Given the description of an element on the screen output the (x, y) to click on. 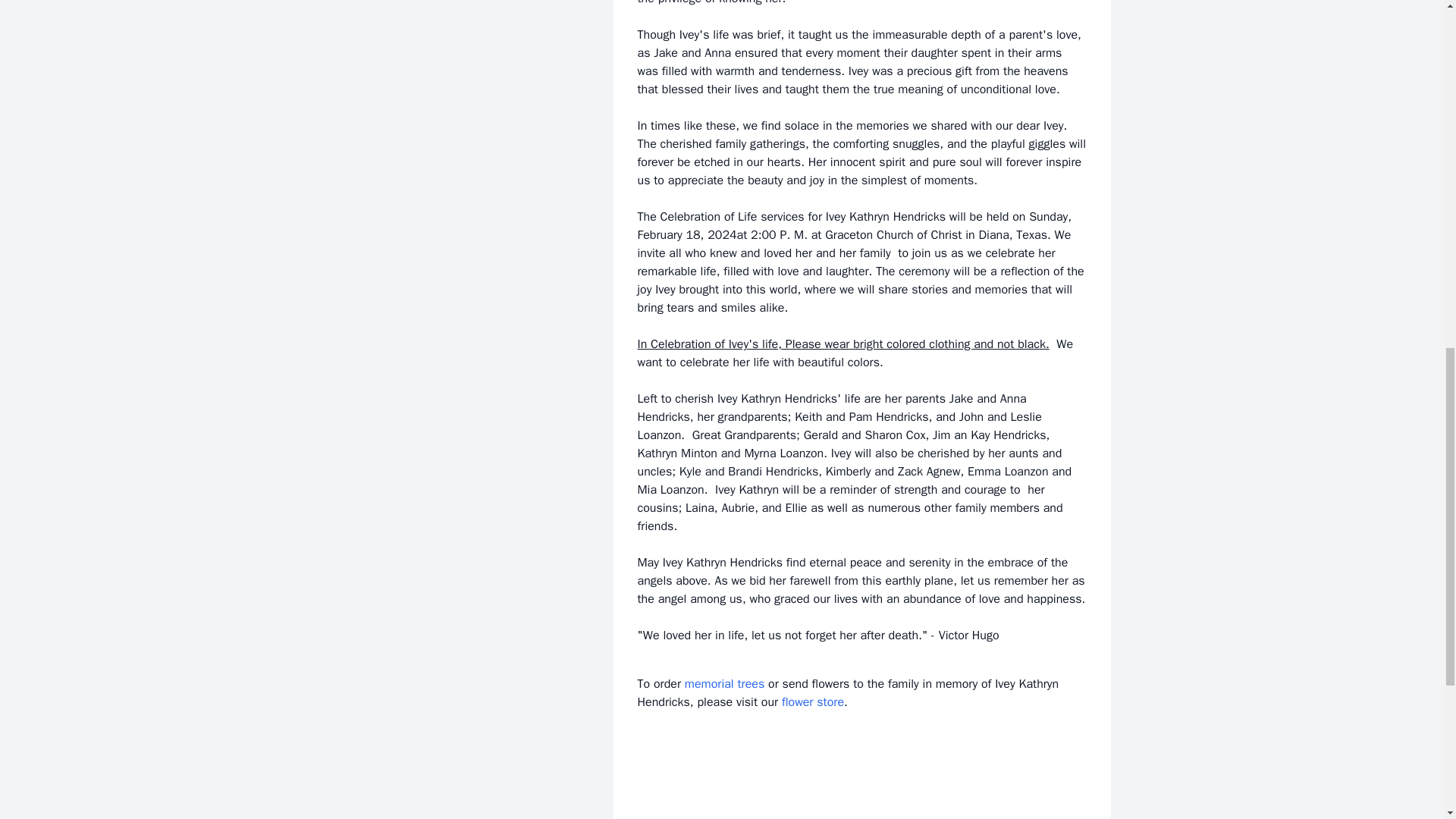
flower store (812, 702)
Ivey Kathryn Hendricks - Croley Funeral Home (861, 786)
memorial trees (724, 683)
